Given the description of an element on the screen output the (x, y) to click on. 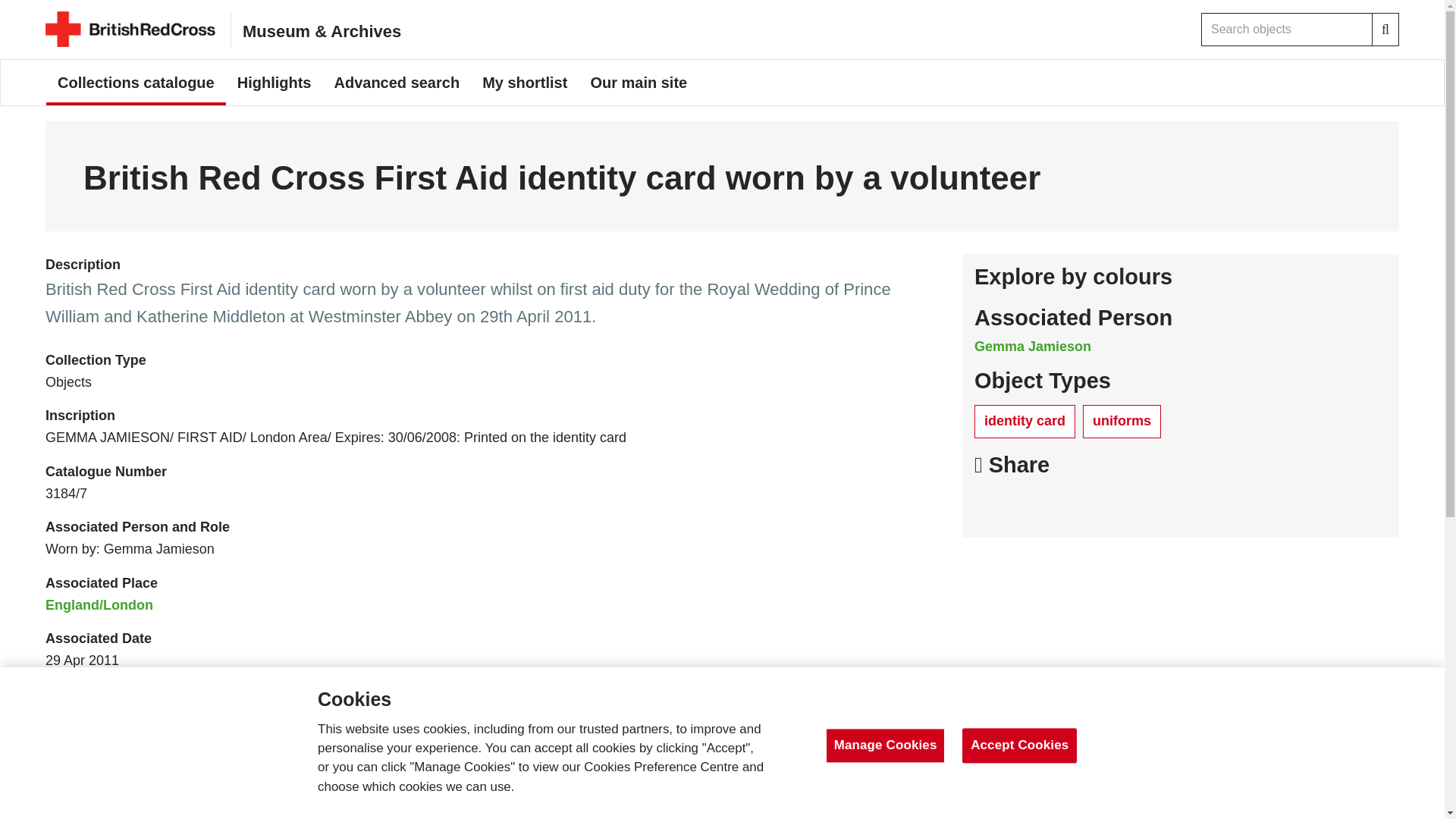
Collections catalogue (135, 82)
uniforms (1121, 421)
Highlights (274, 82)
identity card (1024, 421)
Share on Twitter (1027, 505)
Gemma Jamieson (1032, 346)
Advanced search (395, 82)
Pin It (1064, 505)
My shortlist (524, 82)
Share on Tumblr (1102, 505)
Our main site (638, 82)
Share on Facebook (990, 505)
